Given the description of an element on the screen output the (x, y) to click on. 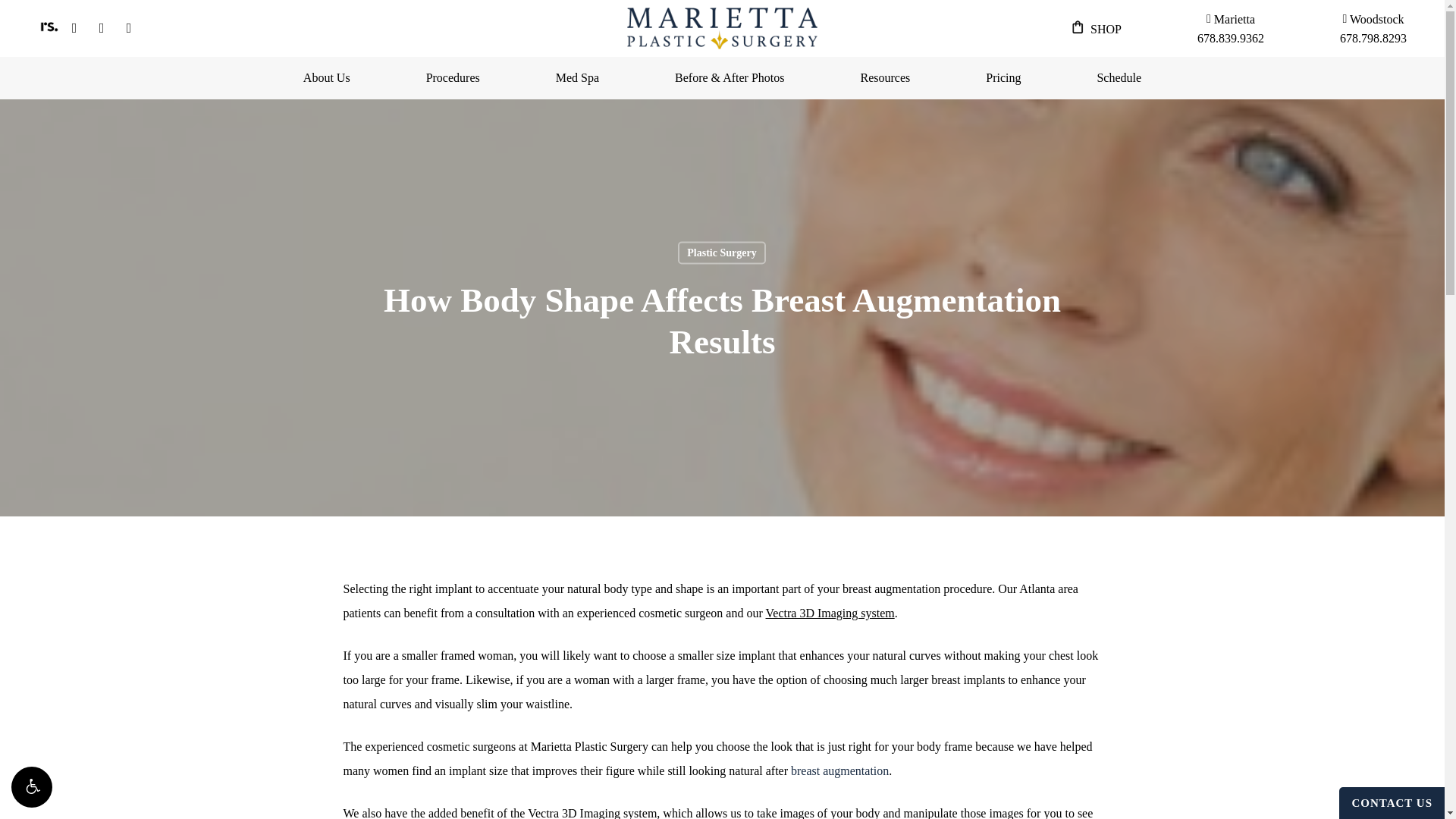
Procedures (453, 78)
About Us (326, 78)
facebook (74, 26)
youtube (101, 26)
instagram (1229, 26)
SHOP (128, 26)
